Given the description of an element on the screen output the (x, y) to click on. 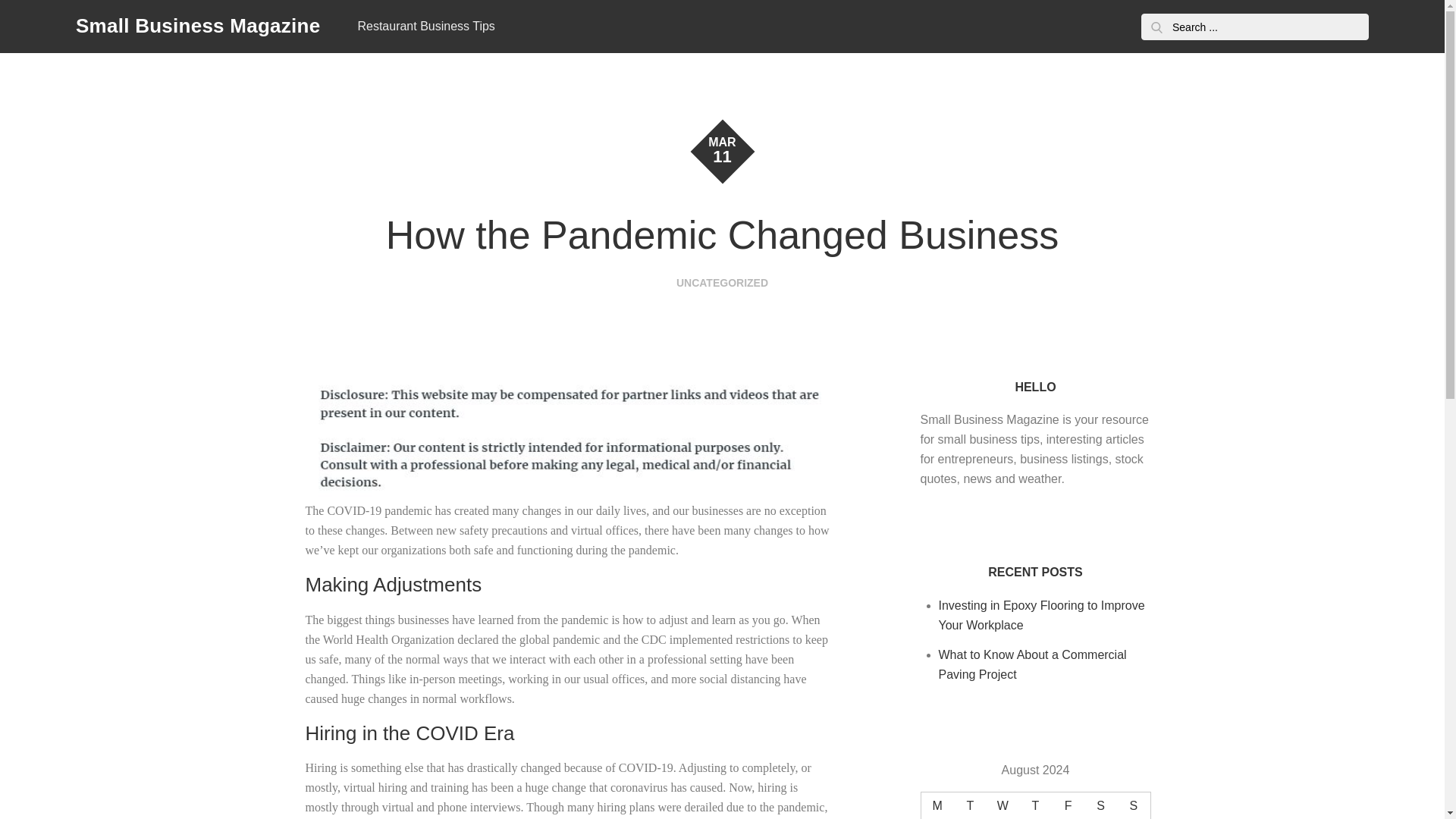
Sunday (1133, 805)
Search for: (1254, 26)
Friday (1067, 805)
Wednesday (1003, 805)
Search (1156, 26)
Tuesday (970, 805)
UNCATEGORIZED (722, 282)
Small Business Magazine (197, 25)
What to Know About a Commercial Paving Project (1032, 664)
Saturday (1100, 805)
